Given the description of an element on the screen output the (x, y) to click on. 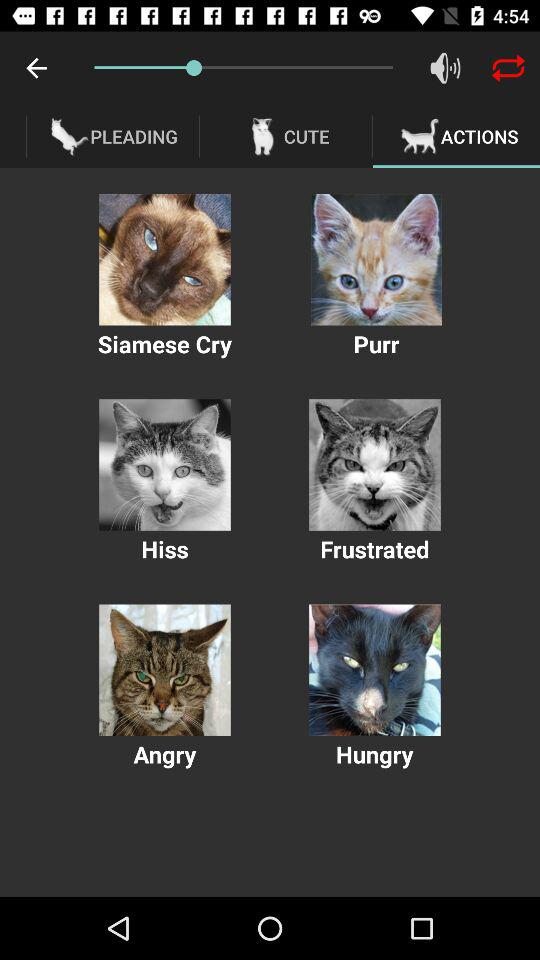
click frustrated cat action (374, 464)
